Given the description of an element on the screen output the (x, y) to click on. 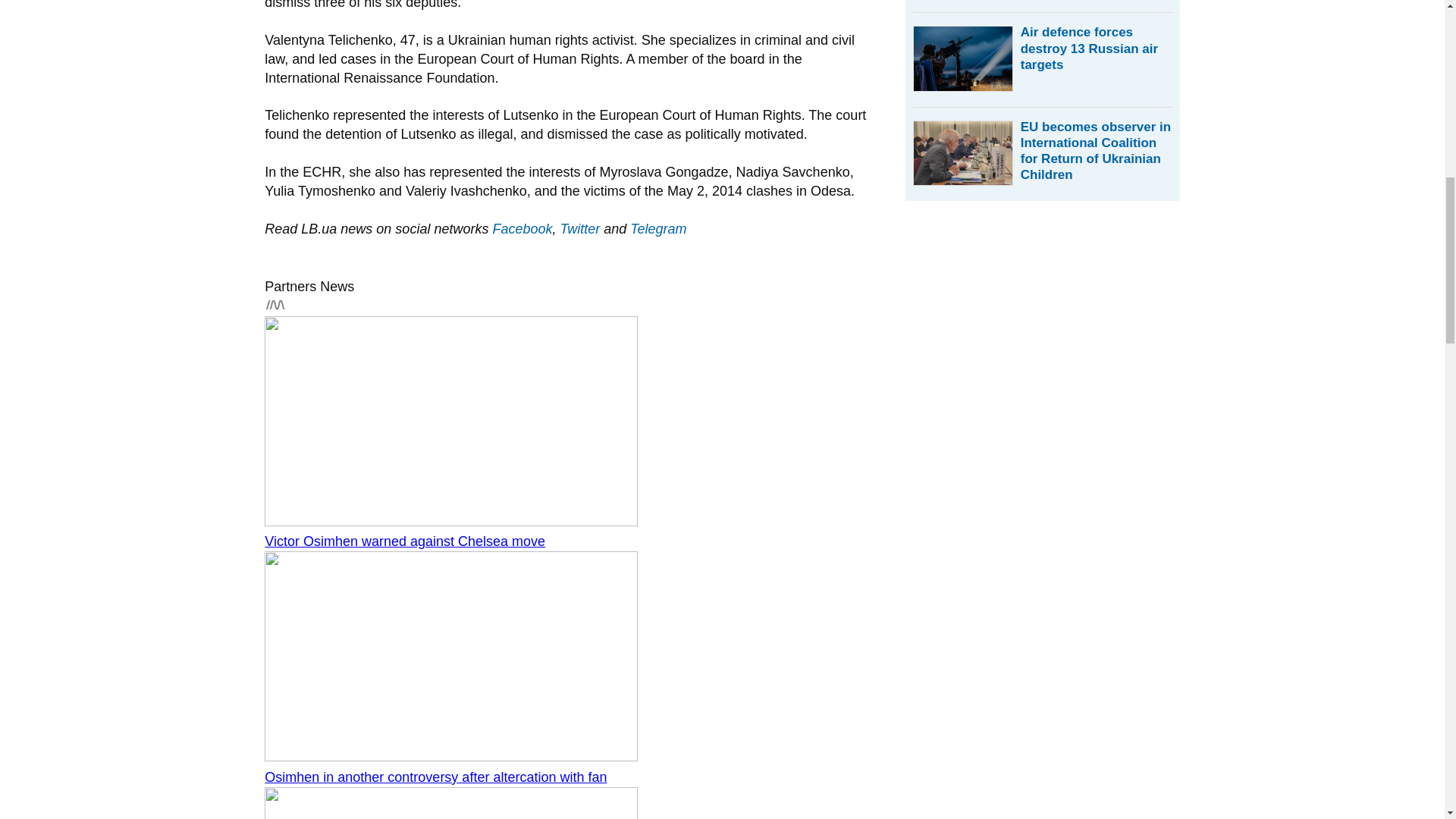
Facebook (521, 228)
Telegram (657, 228)
Twitter (579, 228)
